Given the description of an element on the screen output the (x, y) to click on. 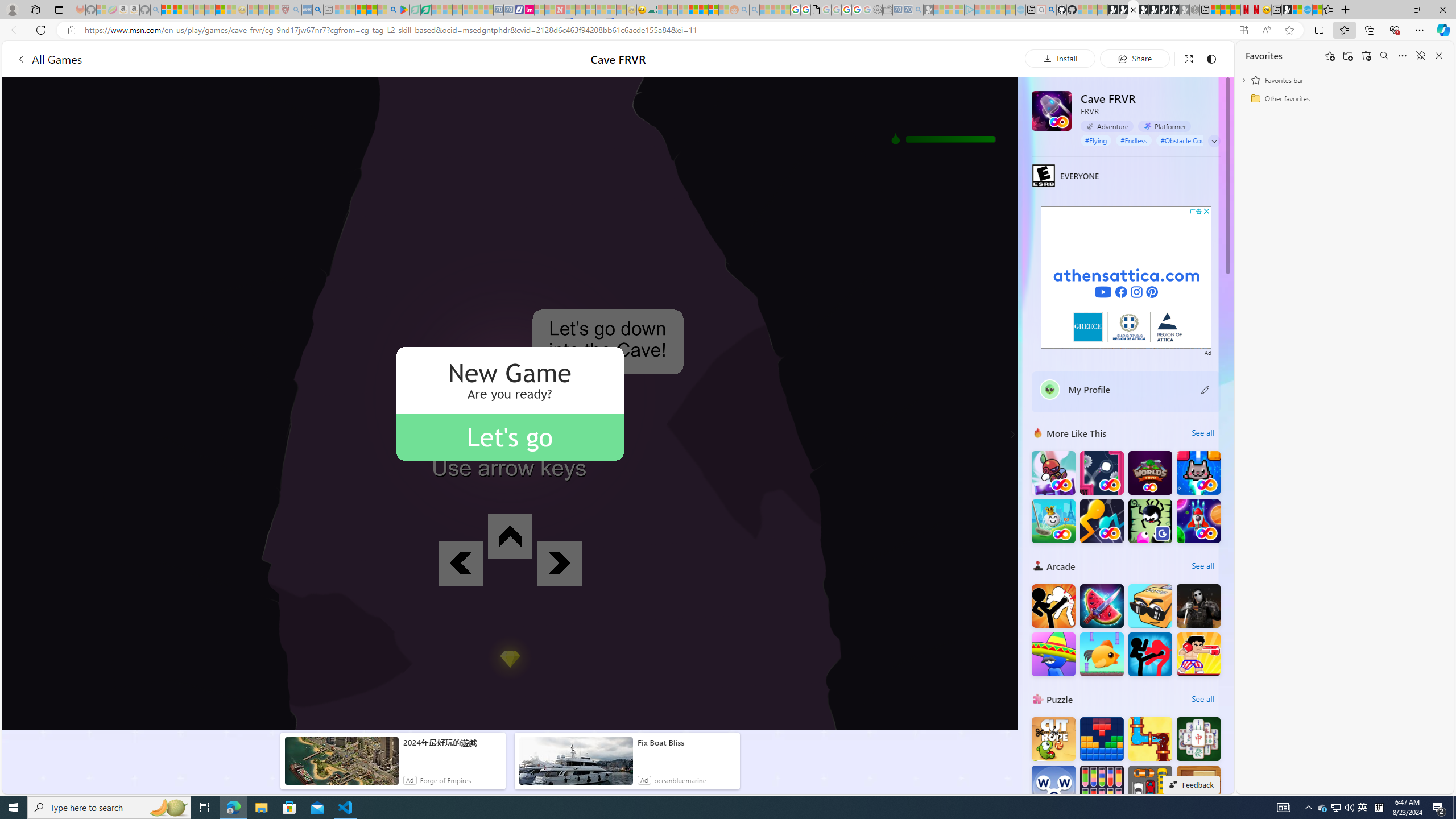
Fruit Chopper (1101, 605)
Words of Wonders (1053, 787)
github - Search (1051, 9)
App available. Install Cave FRVR (1243, 29)
BlockBuster: Adventures Puzzle (1101, 738)
Unpin favorites (1420, 55)
Space Breaker FRVR (1198, 521)
Arcade (1037, 565)
Jobs - lastminute.com Investor Portal (528, 9)
